Given the description of an element on the screen output the (x, y) to click on. 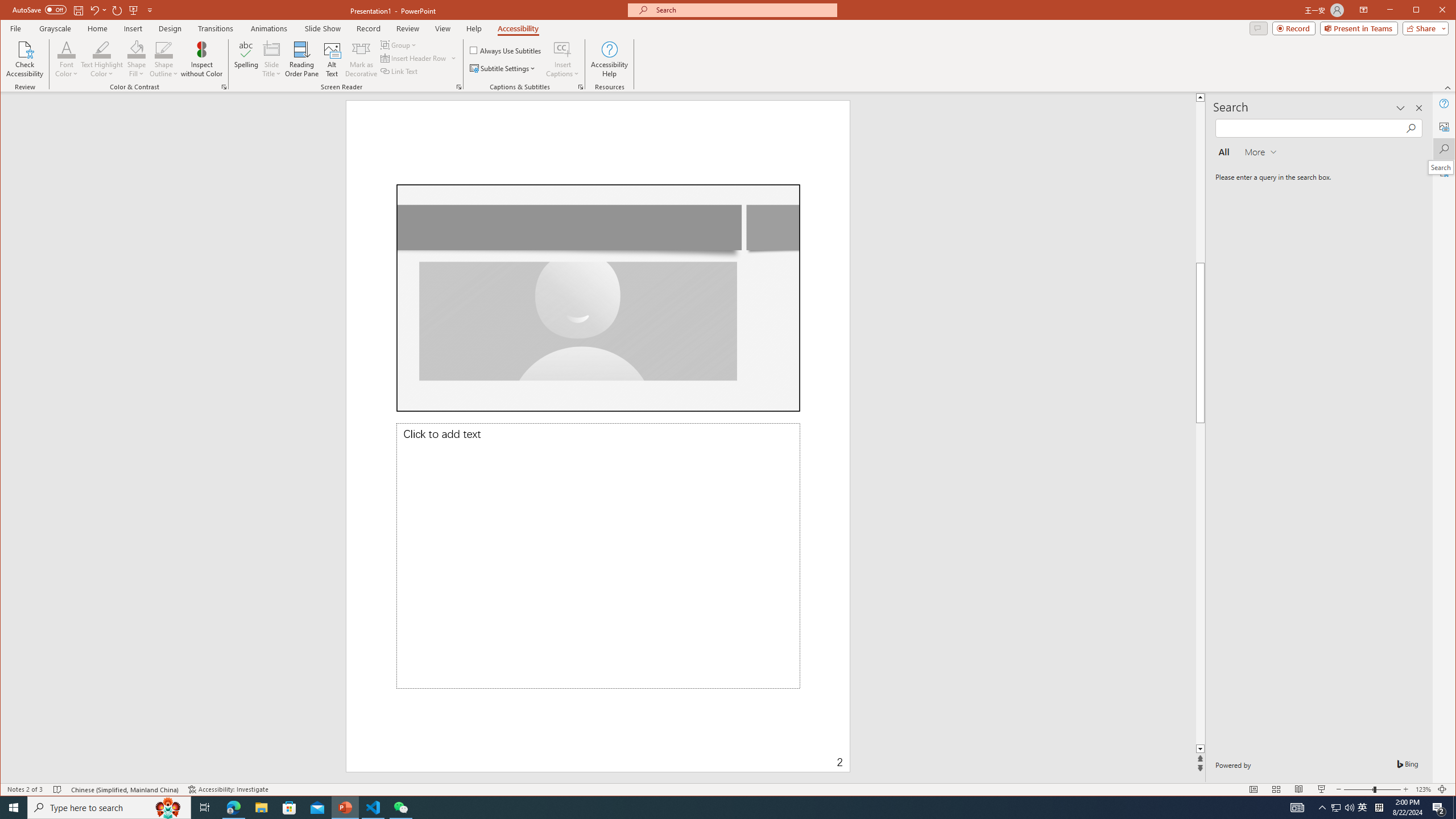
Spelling... (246, 59)
